Given the description of an element on the screen output the (x, y) to click on. 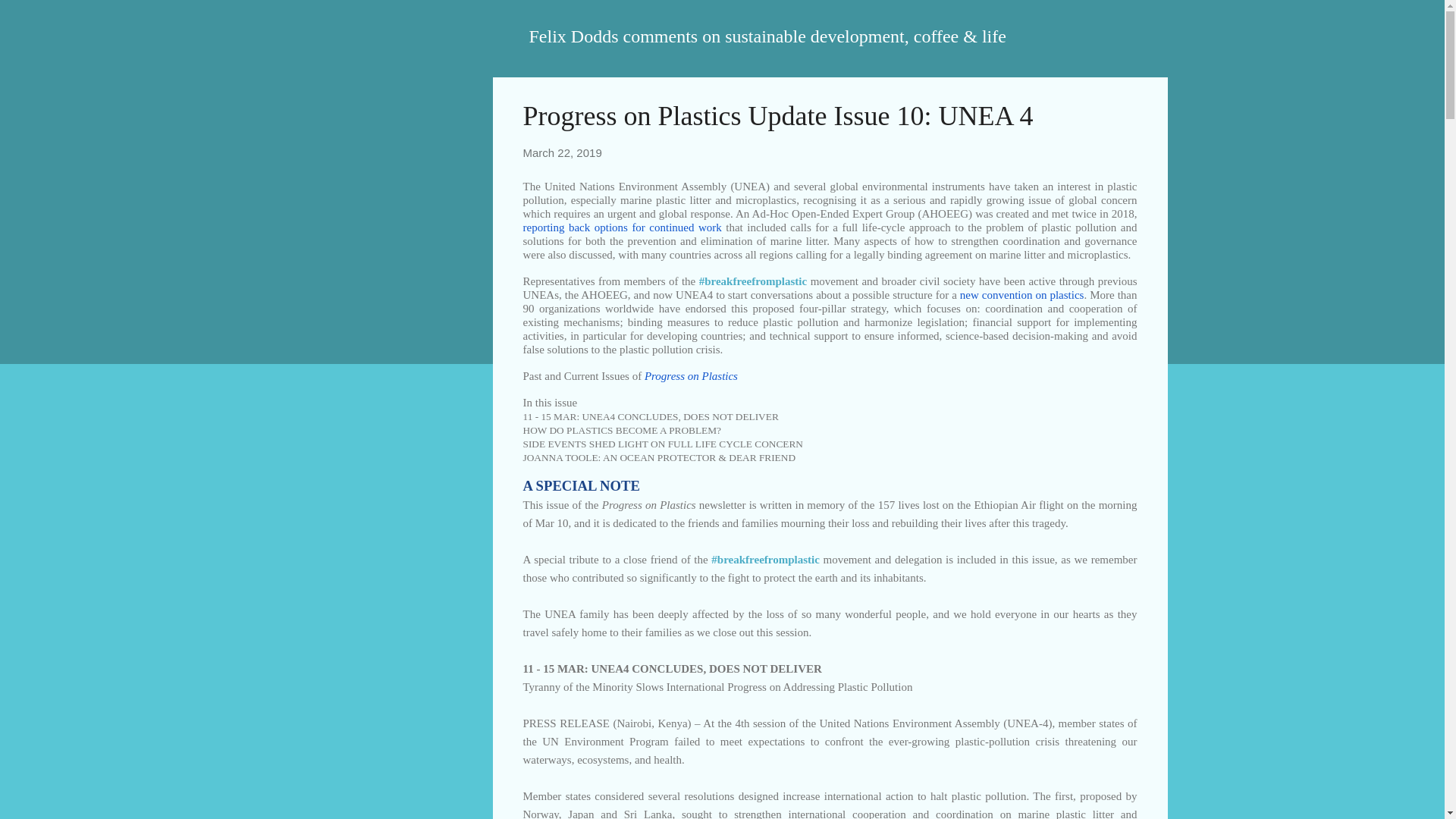
new convention on plastics (1021, 294)
Search (29, 18)
reporting back options for continued work (622, 226)
March 22, 2019 (562, 152)
Progress on Plastics (691, 374)
permanent link (562, 152)
